Given the description of an element on the screen output the (x, y) to click on. 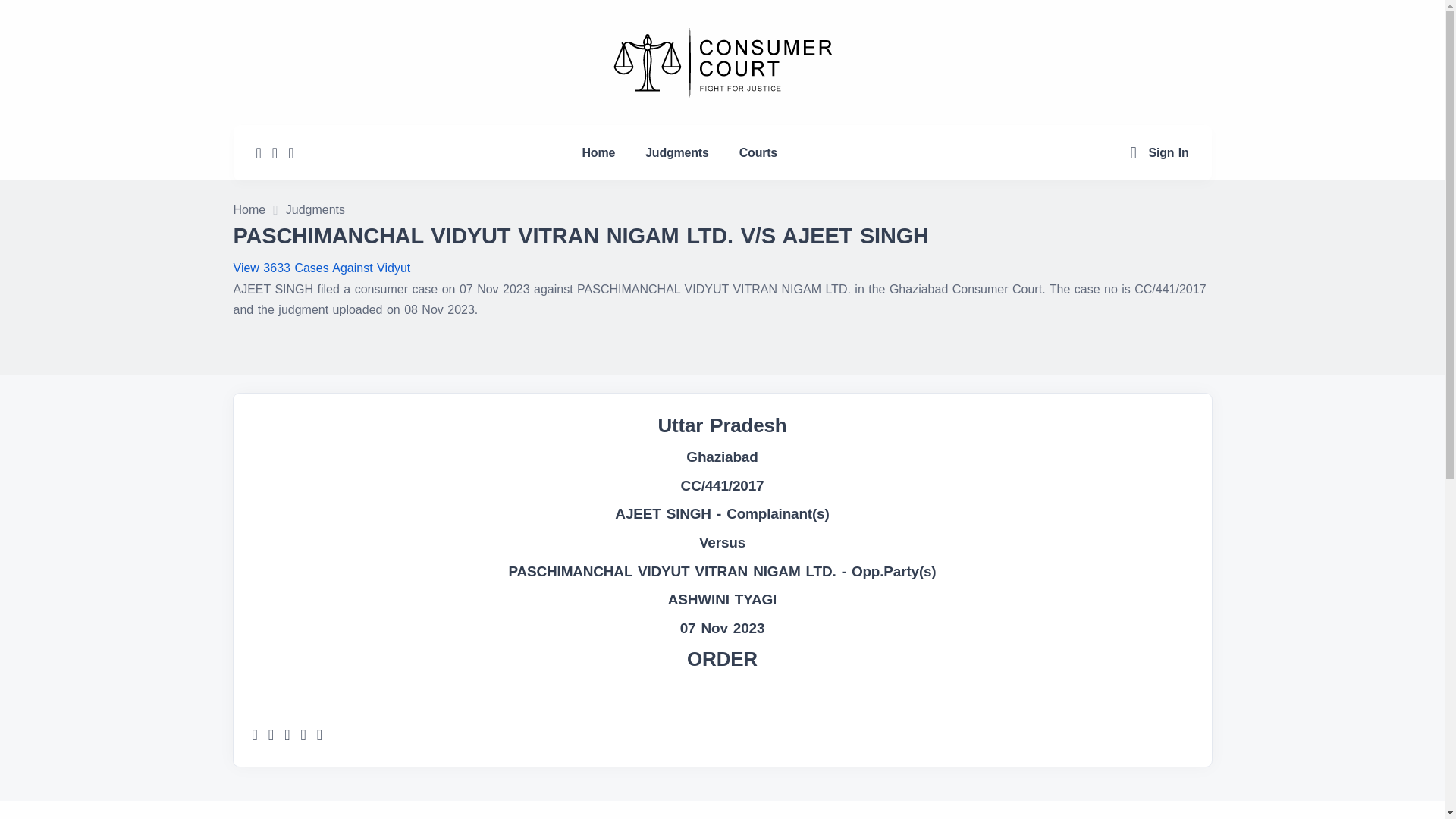
Sign In (1168, 152)
View 3633 Cases Against Vidyut (321, 267)
Judgments (676, 152)
Judgments (315, 210)
Home (598, 152)
Home (249, 210)
Courts (757, 152)
